Given the description of an element on the screen output the (x, y) to click on. 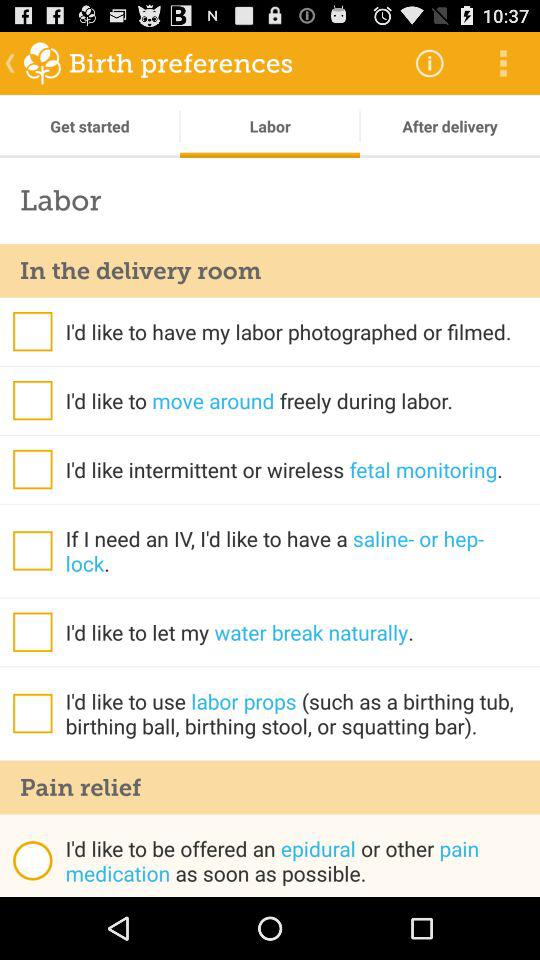
turn on icon below labor icon (270, 270)
